Given the description of an element on the screen output the (x, y) to click on. 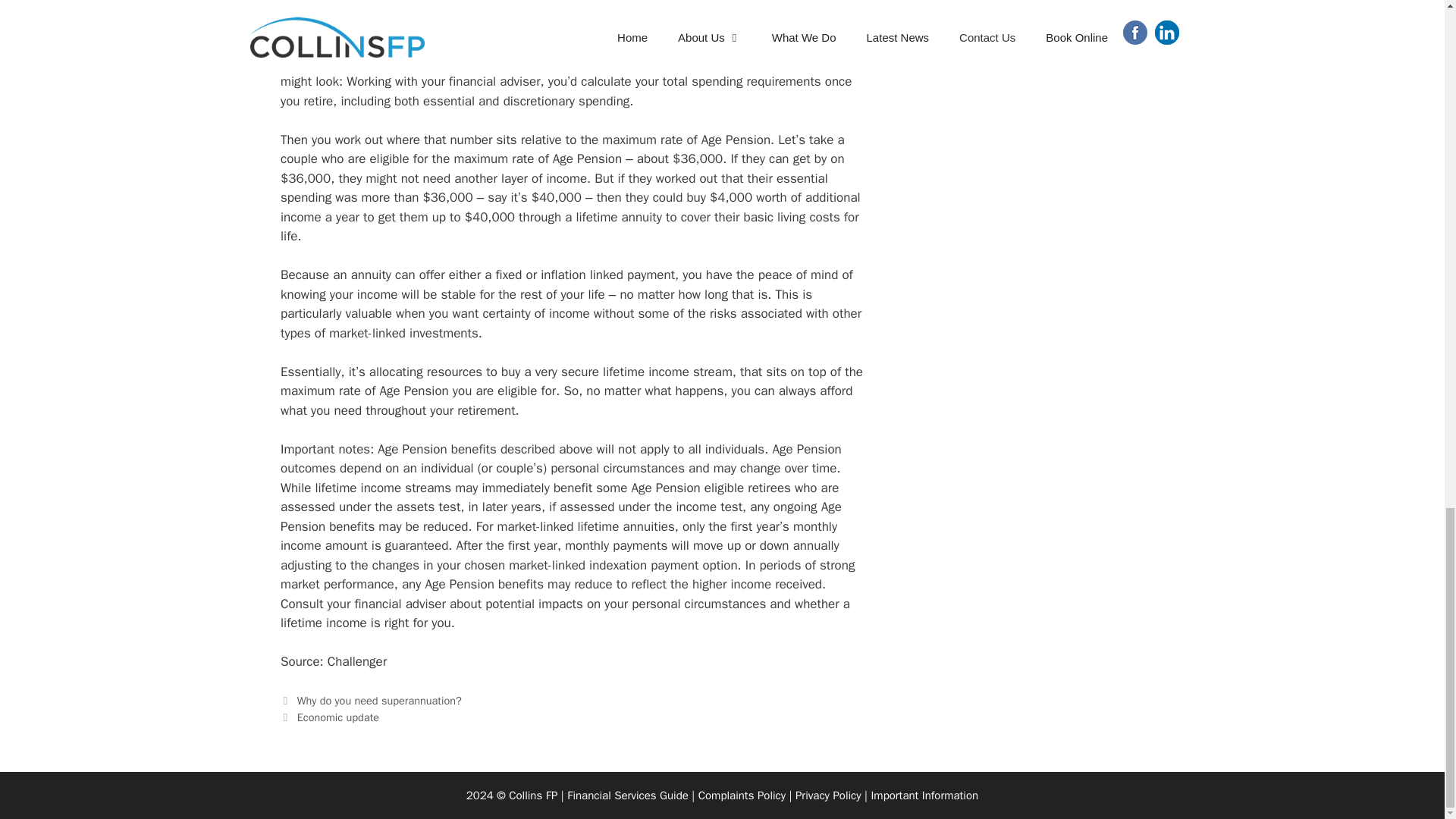
Economic update (337, 716)
Privacy Policy (924, 795)
Financial Services Guide (827, 795)
Why do you need superannuation? (627, 795)
Important Information (379, 700)
Scroll back to top (924, 795)
Complaints Policy (1406, 183)
